Given the description of an element on the screen output the (x, y) to click on. 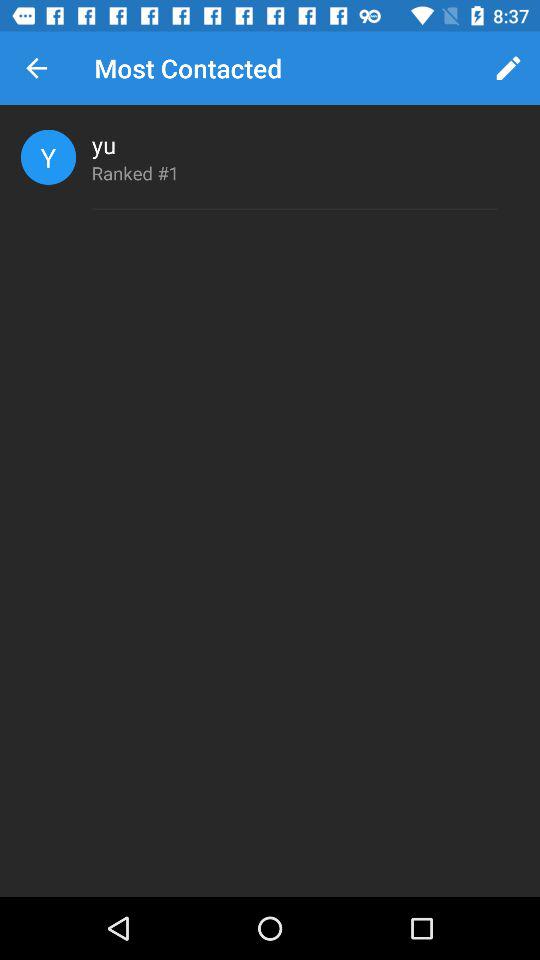
press icon below the most contacted (103, 144)
